Given the description of an element on the screen output the (x, y) to click on. 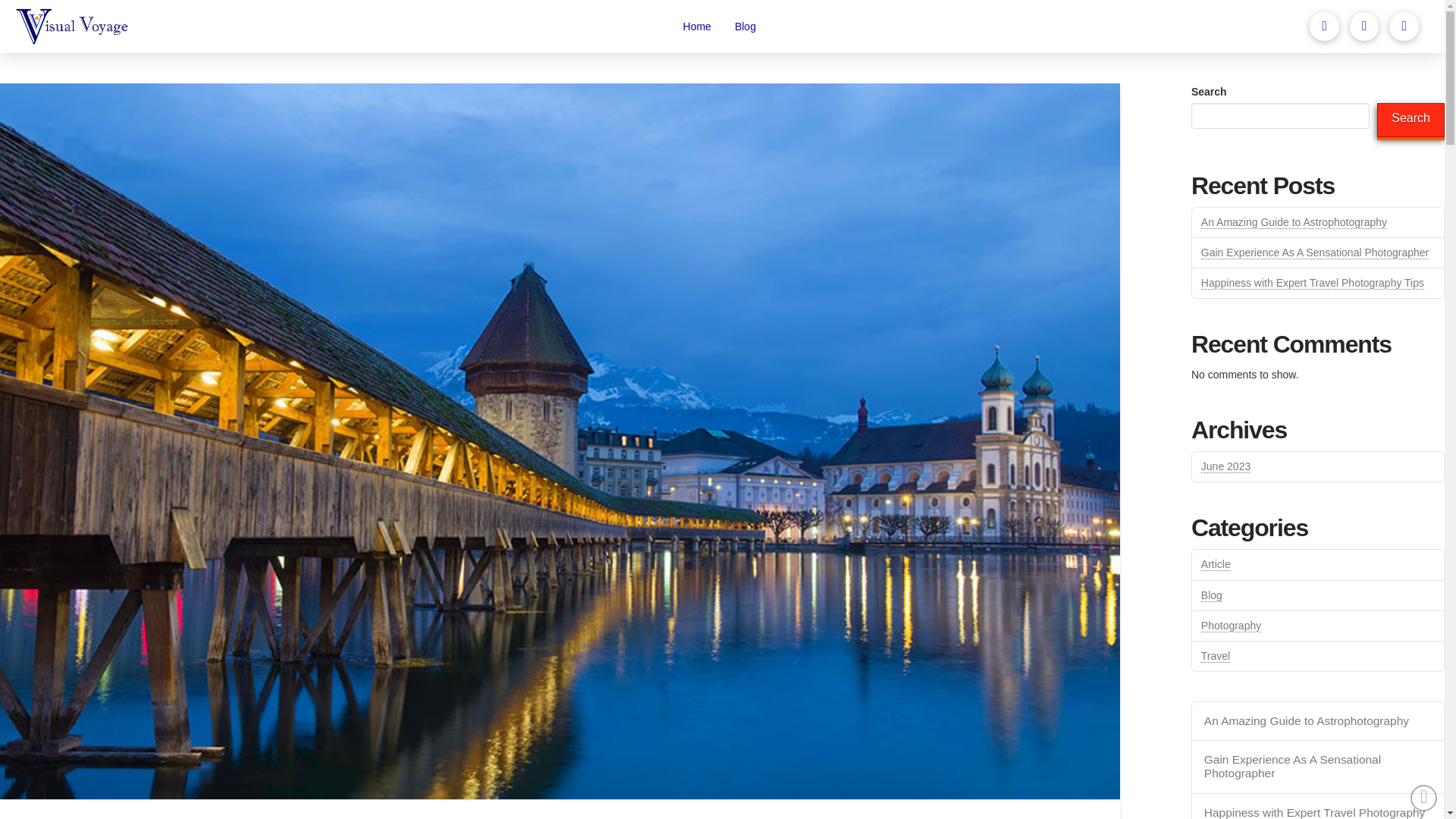
Travel (1215, 656)
Back to Top (1423, 797)
An Amazing Guide to Astrophotography (1317, 721)
Photography (1230, 625)
Happiness with Expert Travel Photography Tips (1312, 282)
Gain Experience As A Sensational Photographer (1317, 766)
Blog (1212, 594)
Article (1215, 563)
Home (696, 26)
An Amazing Guide to Astrophotography (1294, 222)
